Given the description of an element on the screen output the (x, y) to click on. 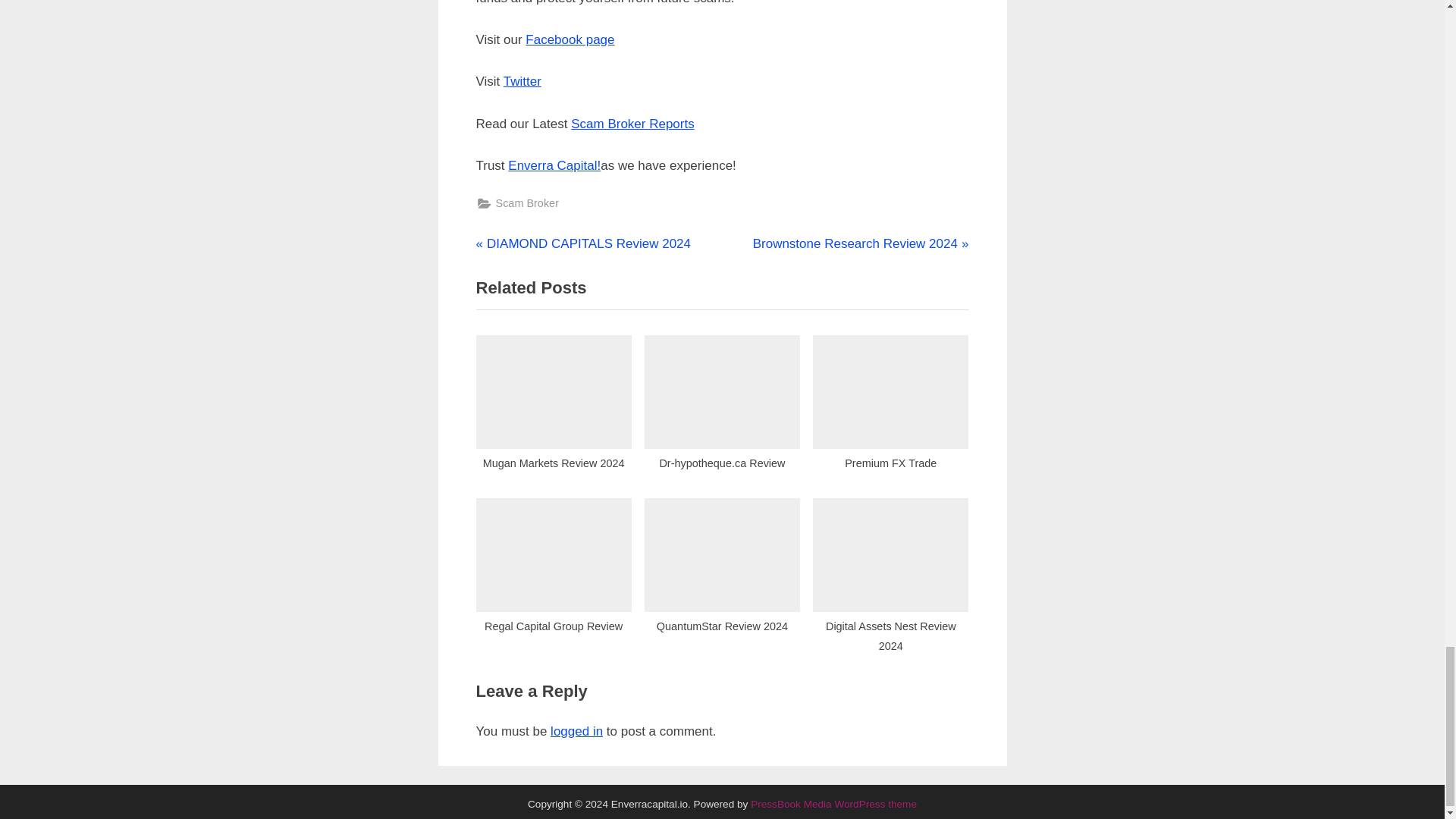
logged in (576, 730)
Enverra Capital! (553, 165)
Premium FX Trade (890, 406)
Dr-hypotheque.ca Review (722, 406)
Facebook page (569, 39)
Scam Broker (527, 203)
Scam Broker Reports (632, 124)
Mugan Markets Review 2024 (553, 406)
PressBook Media WordPress theme (834, 803)
Twitter (522, 81)
